Given the description of an element on the screen output the (x, y) to click on. 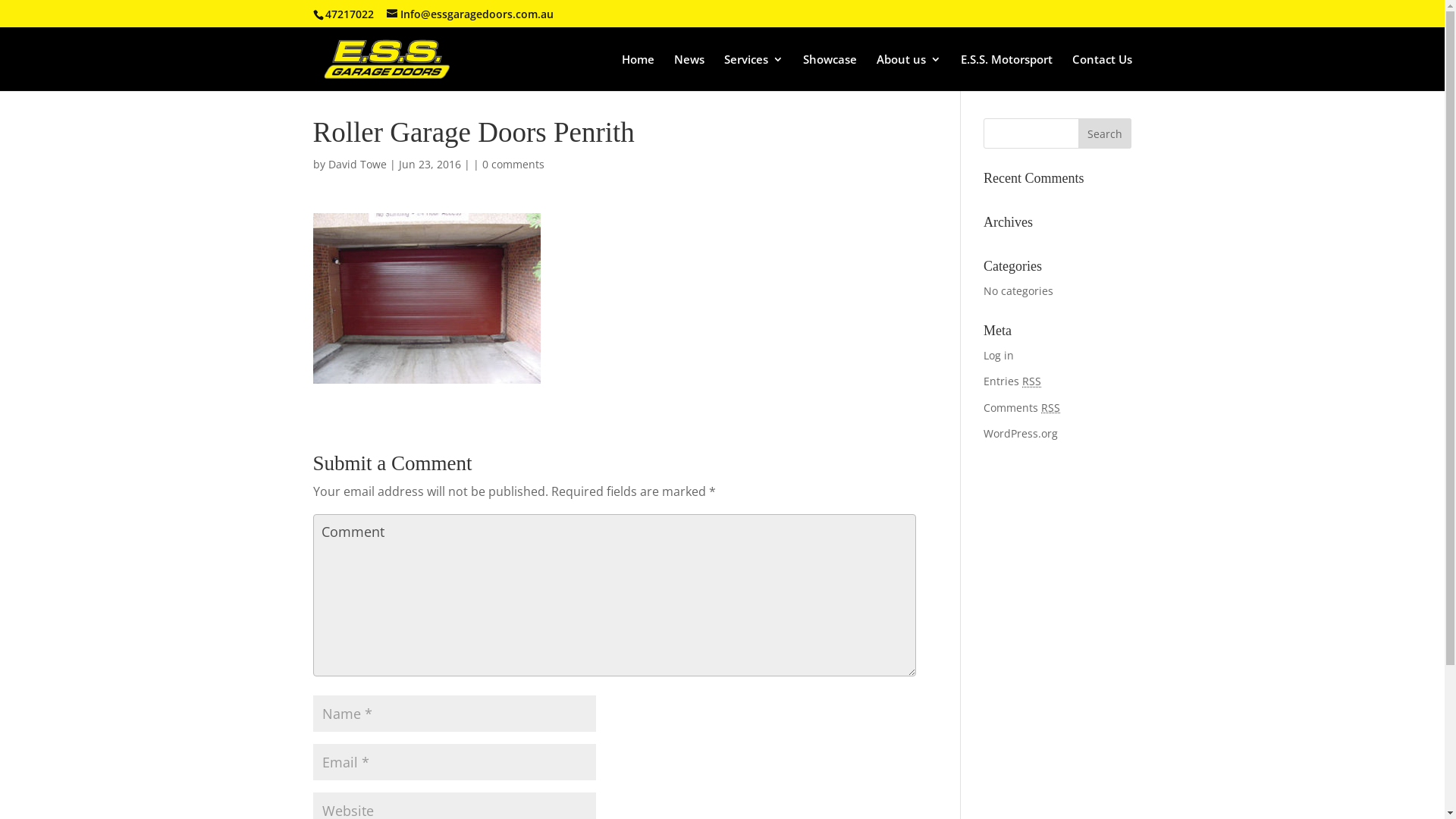
Search Element type: text (1104, 133)
Services Element type: text (752, 72)
Home Element type: text (637, 72)
Info@essgaragedoors.com.au Element type: text (469, 13)
Entries RSS Element type: text (1012, 380)
About us Element type: text (908, 72)
Contact Us Element type: text (1102, 72)
0 comments Element type: text (513, 163)
E.S.S. Motorsport Element type: text (1005, 72)
WordPress.org Element type: text (1020, 433)
News Element type: text (688, 72)
David Towe Element type: text (356, 163)
Log in Element type: text (998, 355)
47217022 Element type: text (347, 13)
Comments RSS Element type: text (1021, 407)
Showcase Element type: text (829, 72)
